Given the description of an element on the screen output the (x, y) to click on. 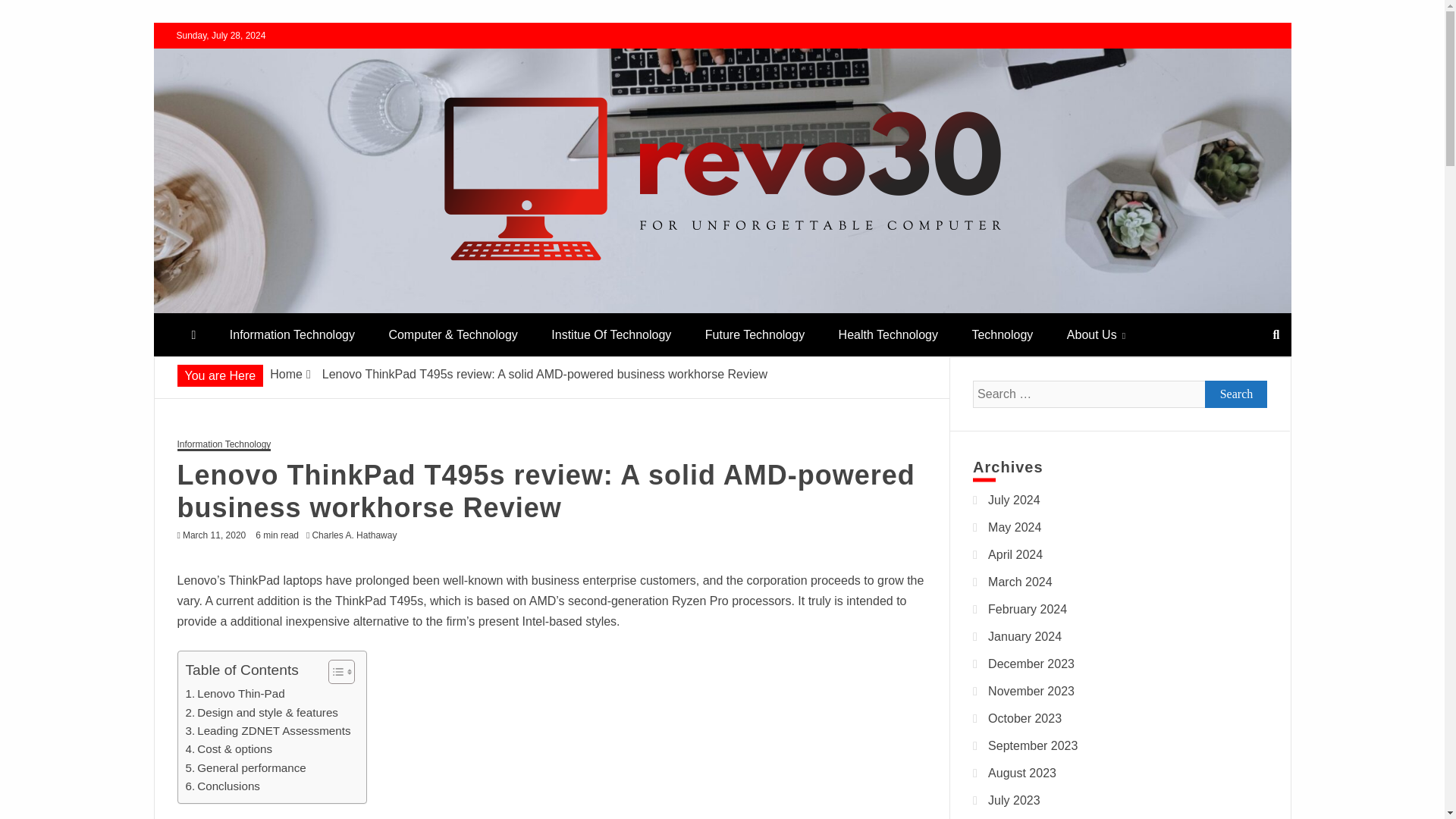
Conclusions (221, 786)
Conclusions (221, 786)
Leading ZDNET Assessments (267, 730)
Leading ZDNET Assessments (267, 730)
Technology (1002, 334)
Search (1235, 393)
Information Technology (223, 445)
Search (31, 13)
General performance (244, 768)
Lenovo Thin-Pad (233, 693)
Information Technology (291, 334)
Search (1235, 393)
March 11, 2020 (214, 534)
About Us (1095, 334)
